Given the description of an element on the screen output the (x, y) to click on. 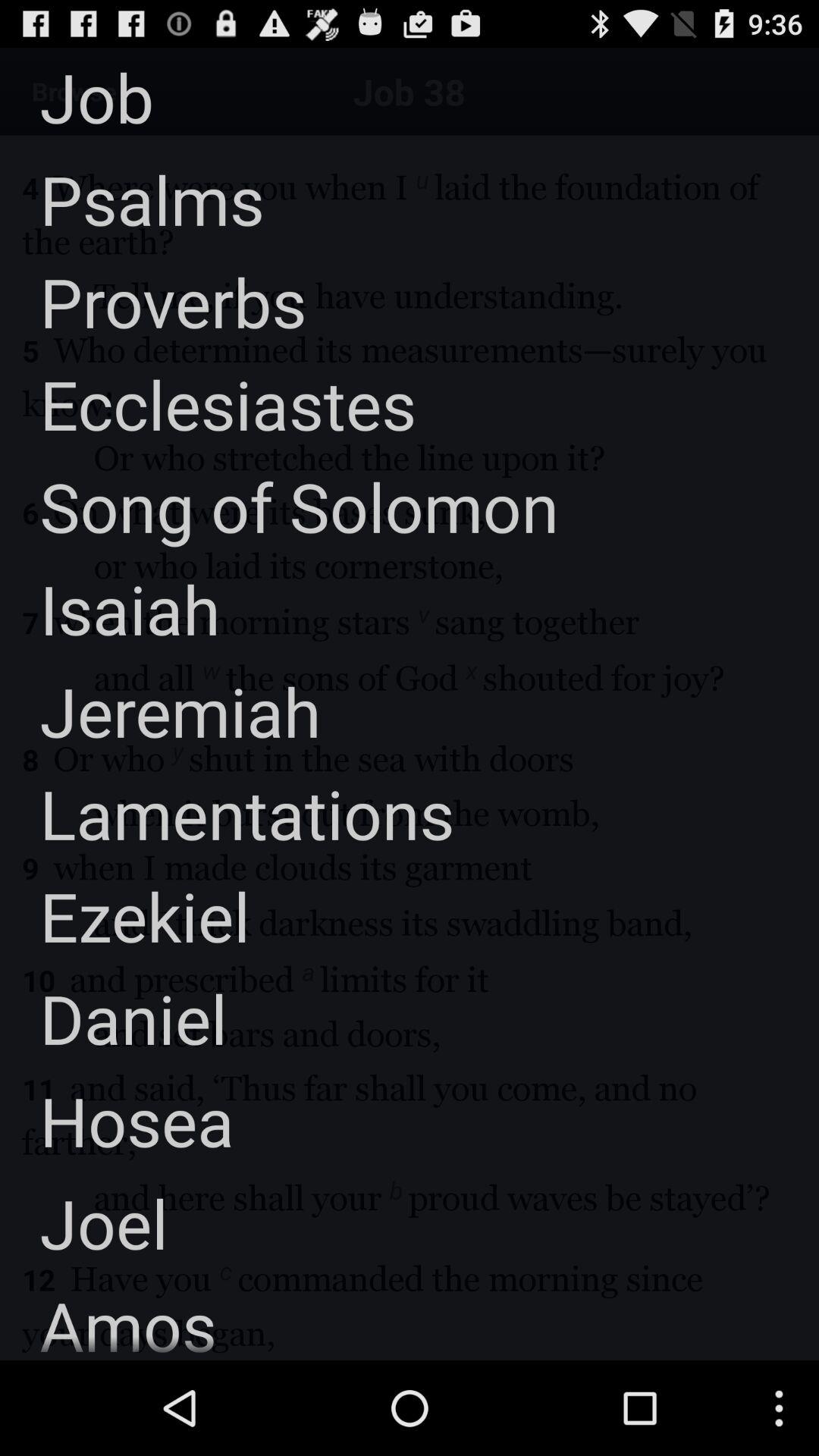
click the item below the isaiah app (160, 711)
